Given the description of an element on the screen output the (x, y) to click on. 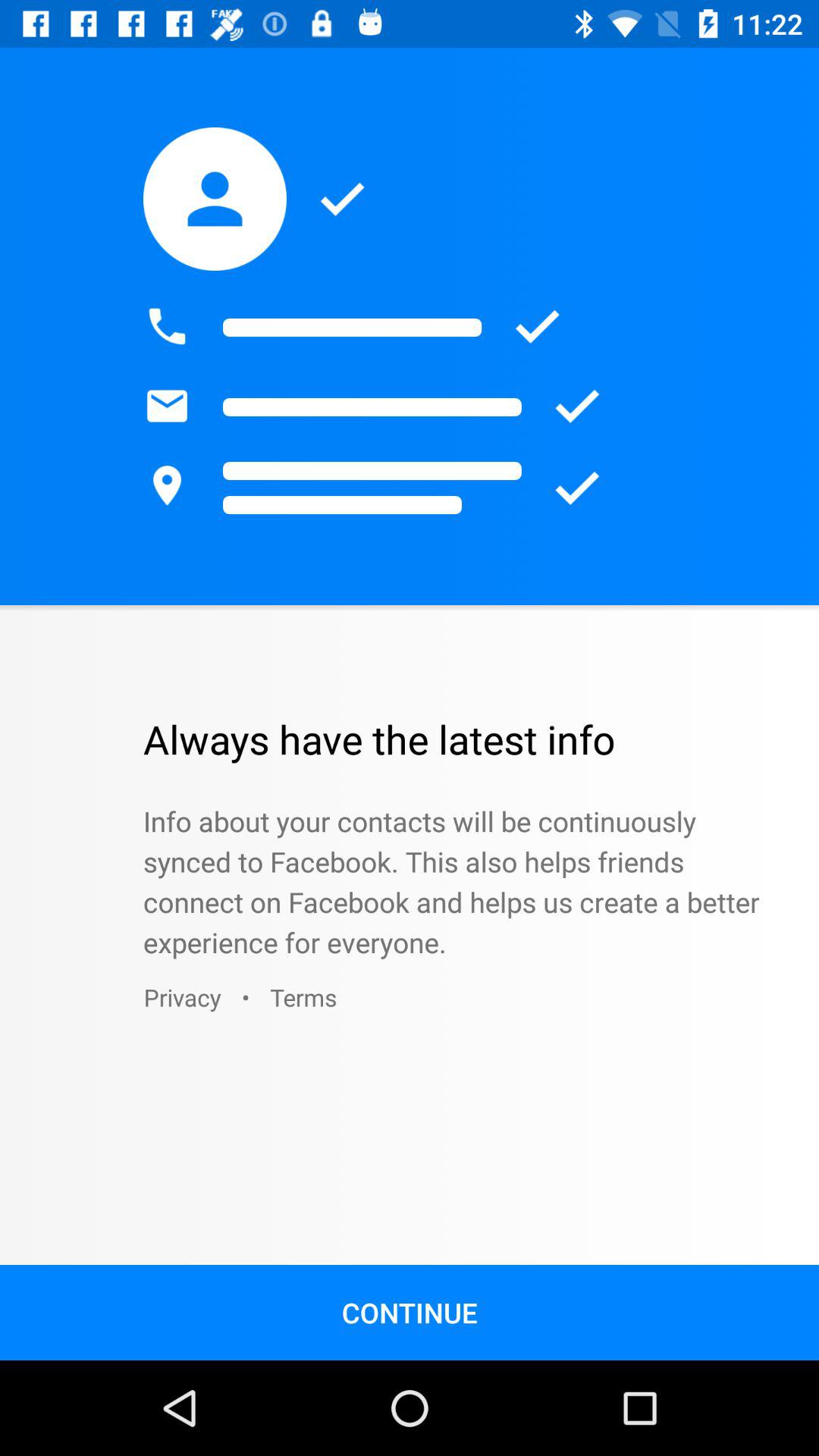
turn off terms icon (303, 997)
